Given the description of an element on the screen output the (x, y) to click on. 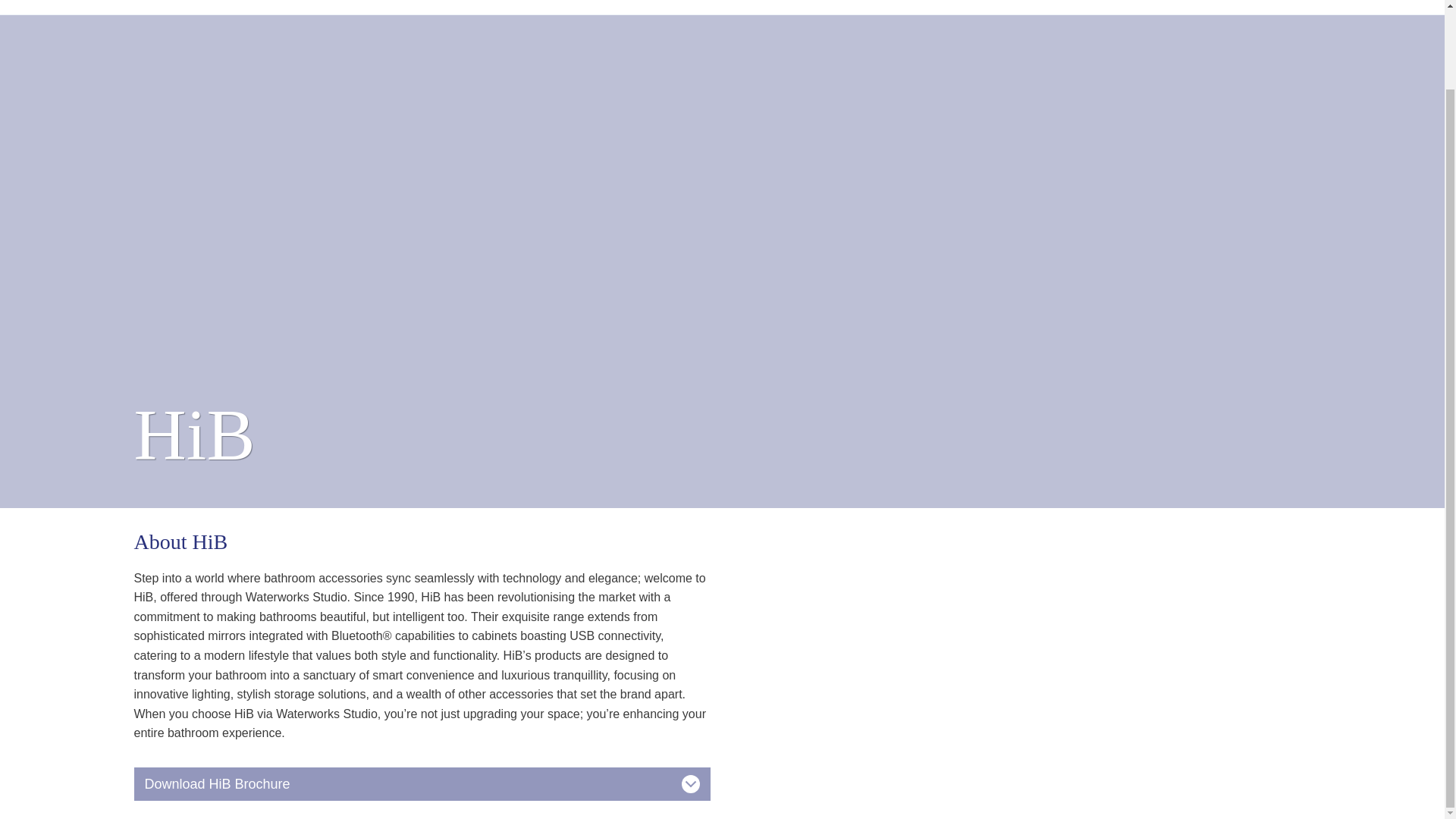
Brochure Request (1018, 7)
Projects (818, 7)
Showroom (713, 7)
Bathroom Styles (904, 7)
Tiles (769, 7)
About Us (1113, 7)
